Given the description of an element on the screen output the (x, y) to click on. 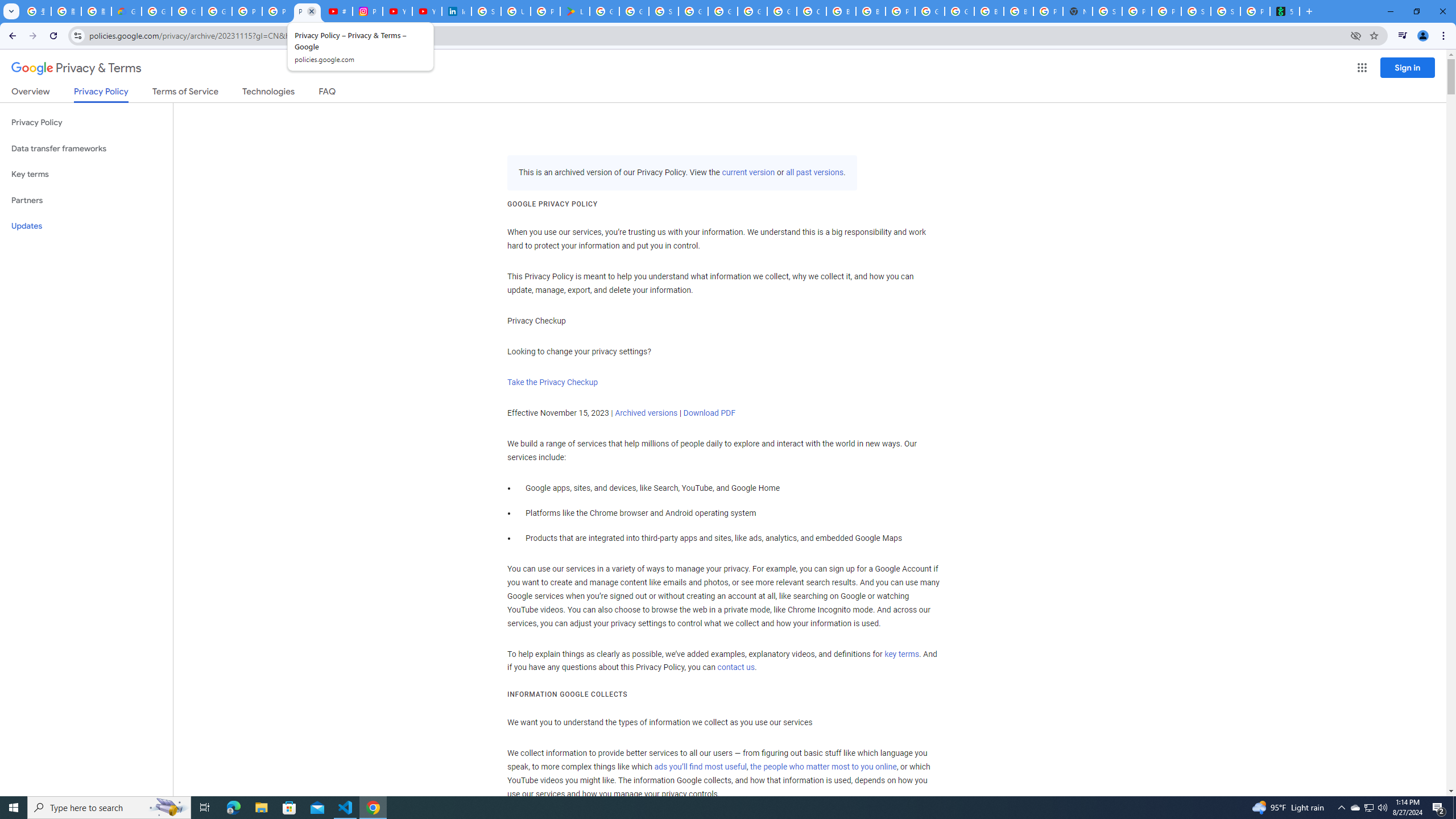
Last Shelter: Survival - Apps on Google Play (574, 11)
YouTube Culture & Trends - YouTube Top 10, 2021 (426, 11)
Privacy Help Center - Policies Help (277, 11)
the people who matter most to you online (822, 766)
